Given the description of an element on the screen output the (x, y) to click on. 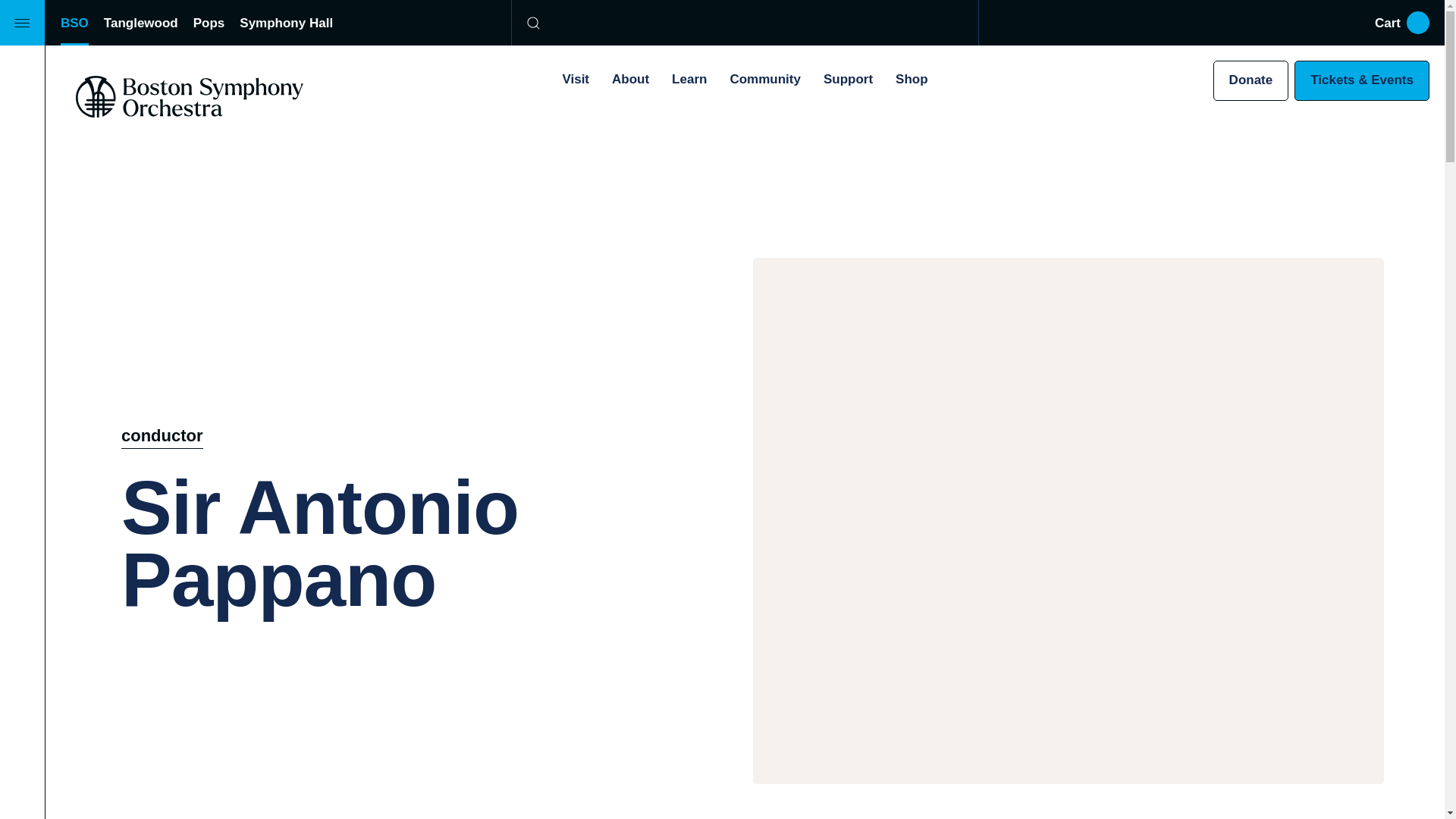
Symphony Hall (286, 22)
Tanglewood (140, 22)
Menu (22, 22)
